Given the description of an element on the screen output the (x, y) to click on. 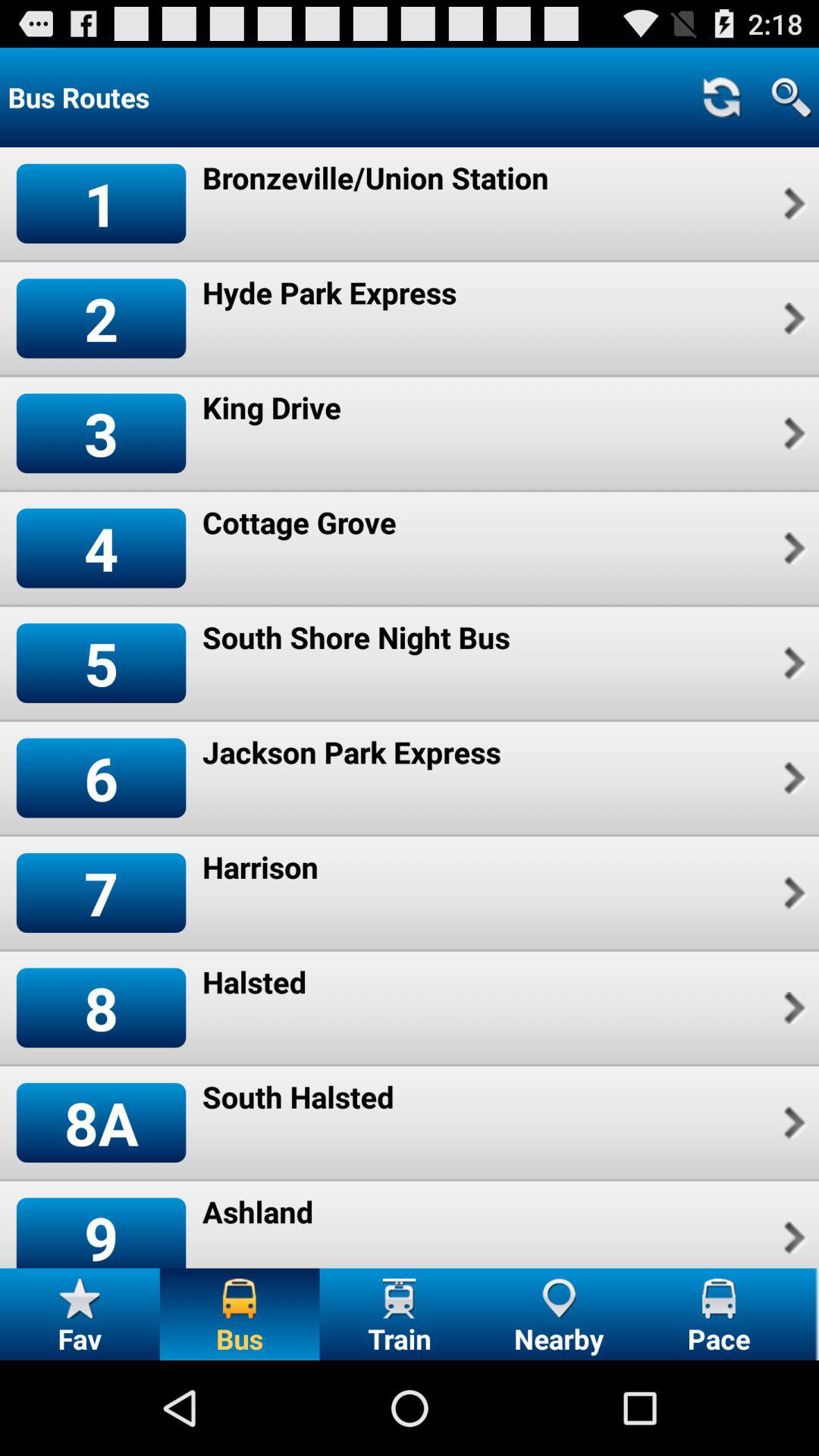
open the item below the 5 (100, 777)
